Given the description of an element on the screen output the (x, y) to click on. 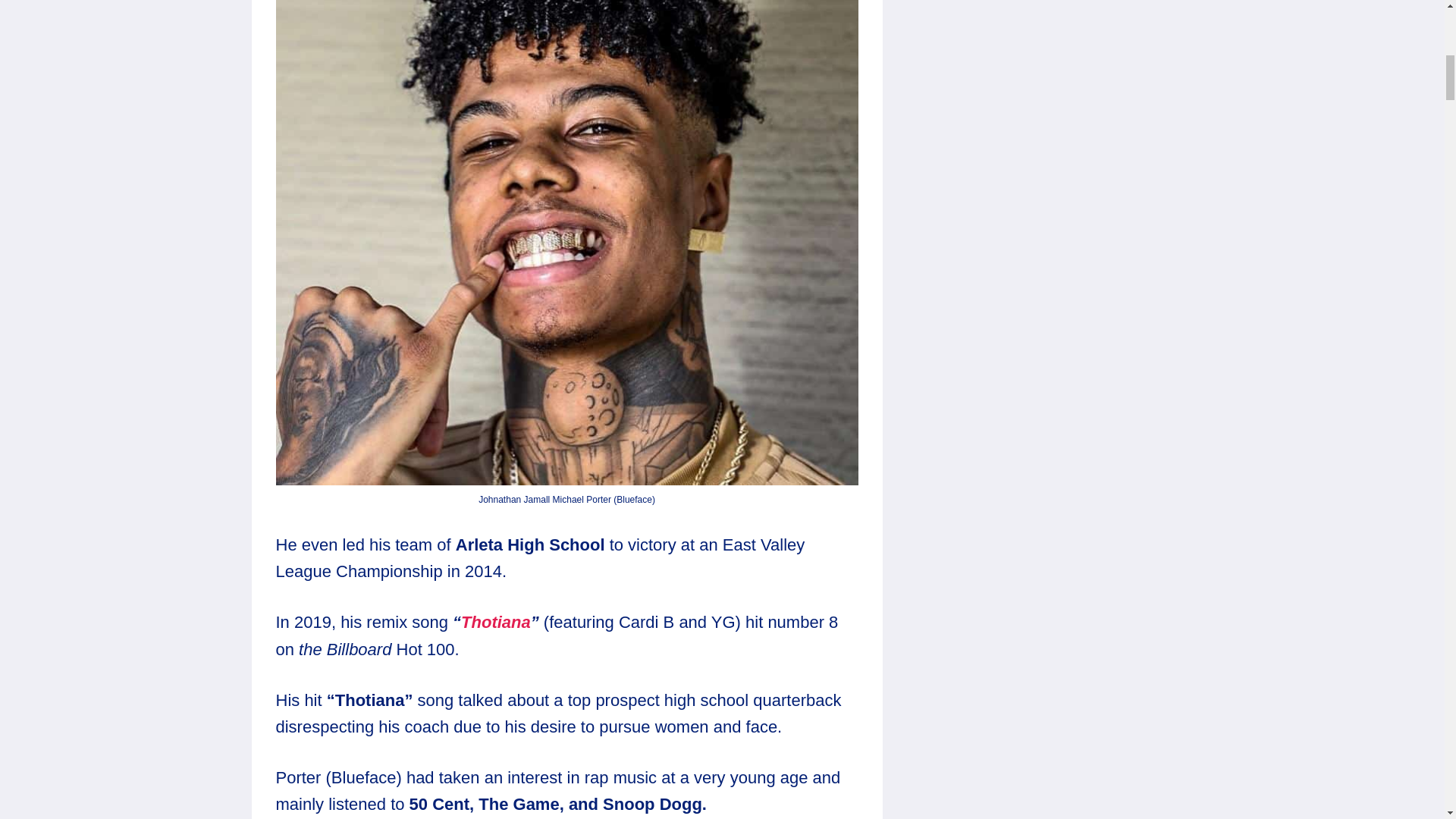
Thotiana (496, 621)
